Given the description of an element on the screen output the (x, y) to click on. 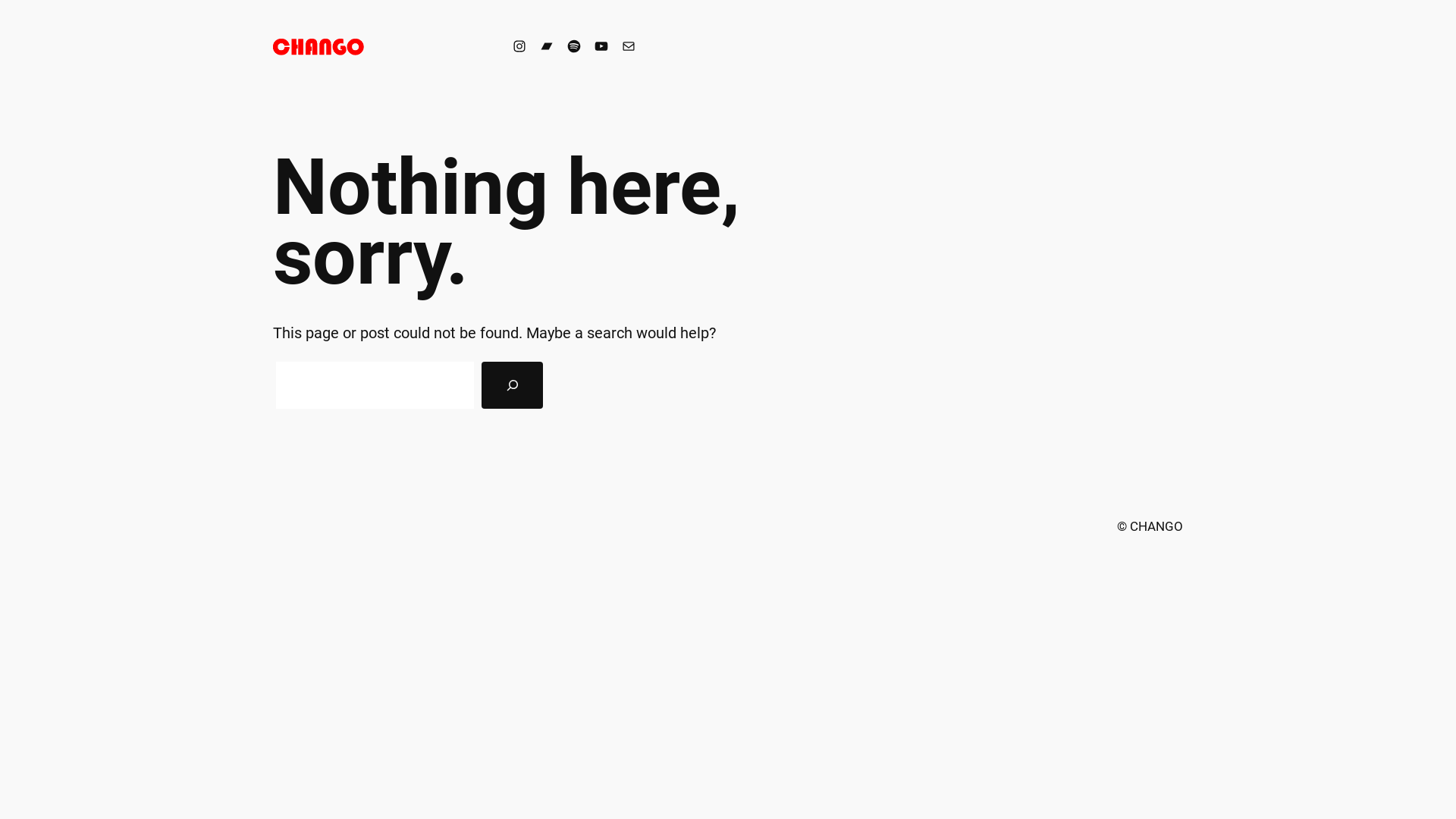
YouTube Element type: text (600, 45)
Bandcamp Element type: text (546, 45)
Spotify Element type: text (573, 45)
Mail Element type: text (628, 45)
Instagram Element type: text (519, 45)
